Given the description of an element on the screen output the (x, y) to click on. 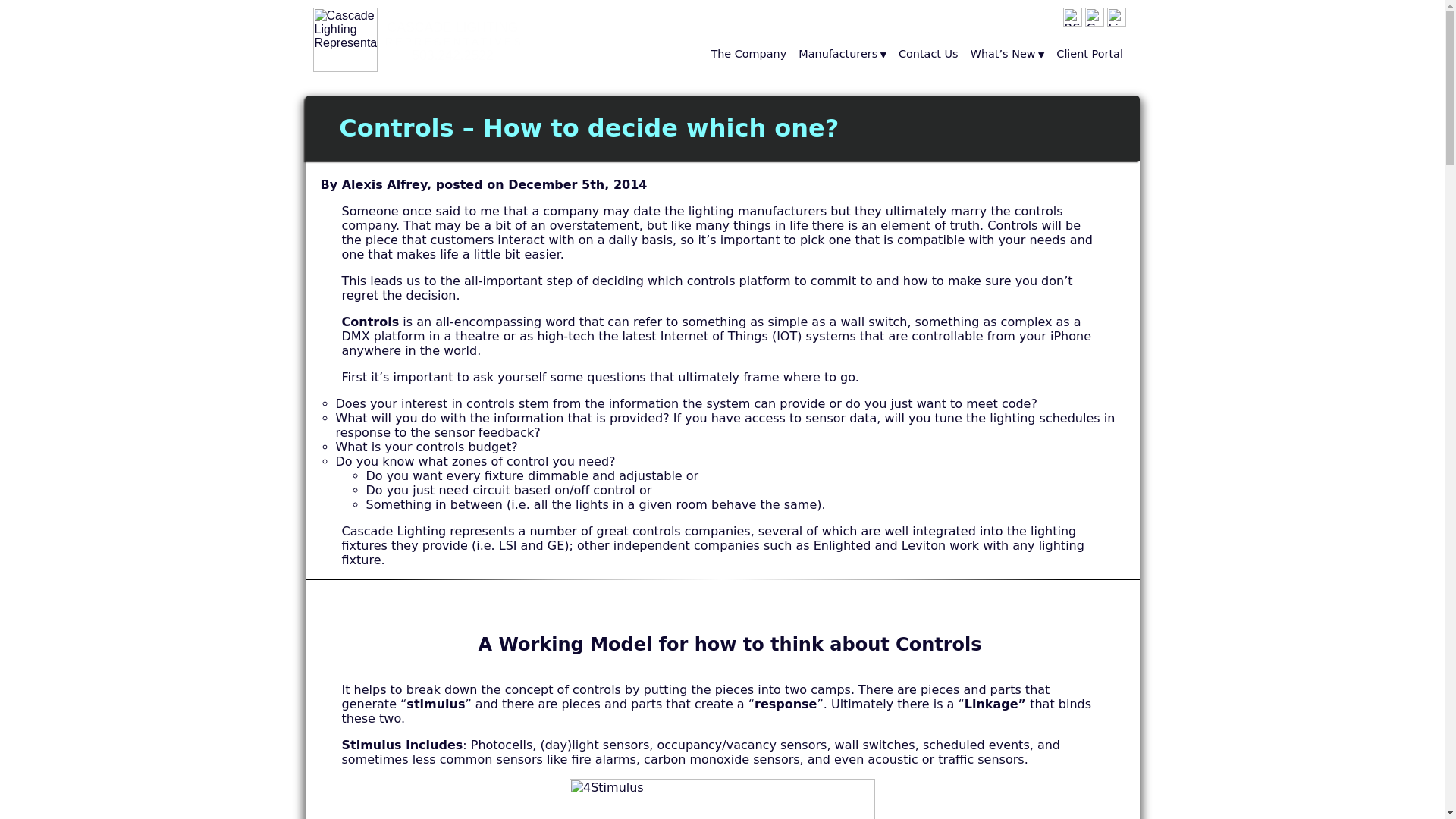
Manufacturers (842, 54)
Client Portal (1089, 54)
RSS (1072, 22)
Gallery images of our Manufacturers (420, 67)
Contact Us (1094, 22)
Linked In (927, 54)
Gallery images of our Manufacturers (1115, 16)
The Company (1093, 16)
RSS (748, 54)
Linked In (1071, 16)
